Given the description of an element on the screen output the (x, y) to click on. 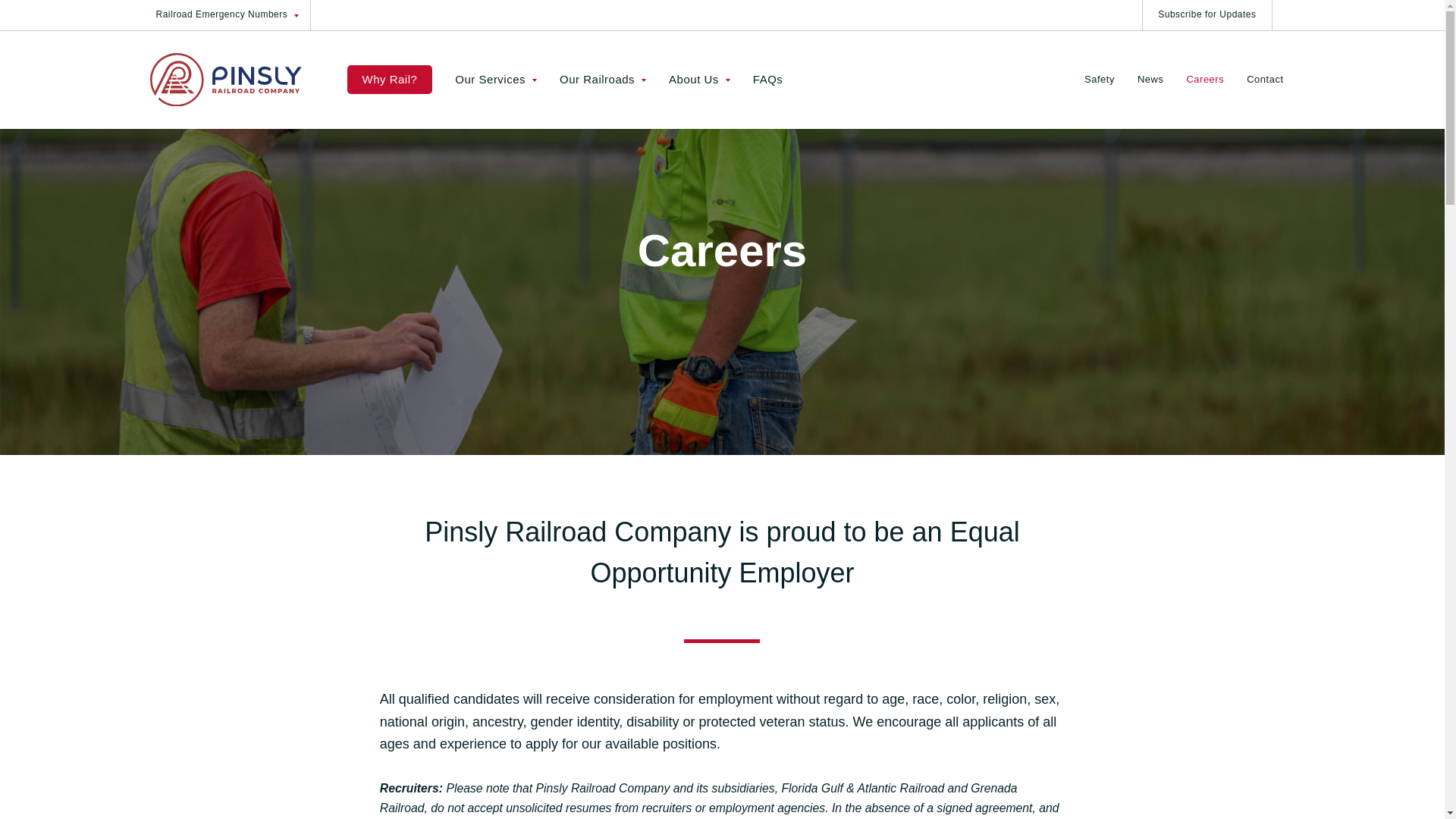
Railroad Emergency Numbers (230, 15)
Subscribe for Updates (1206, 15)
Why Rail? (389, 79)
Our Railroads (603, 79)
Our Services (496, 79)
